Given the description of an element on the screen output the (x, y) to click on. 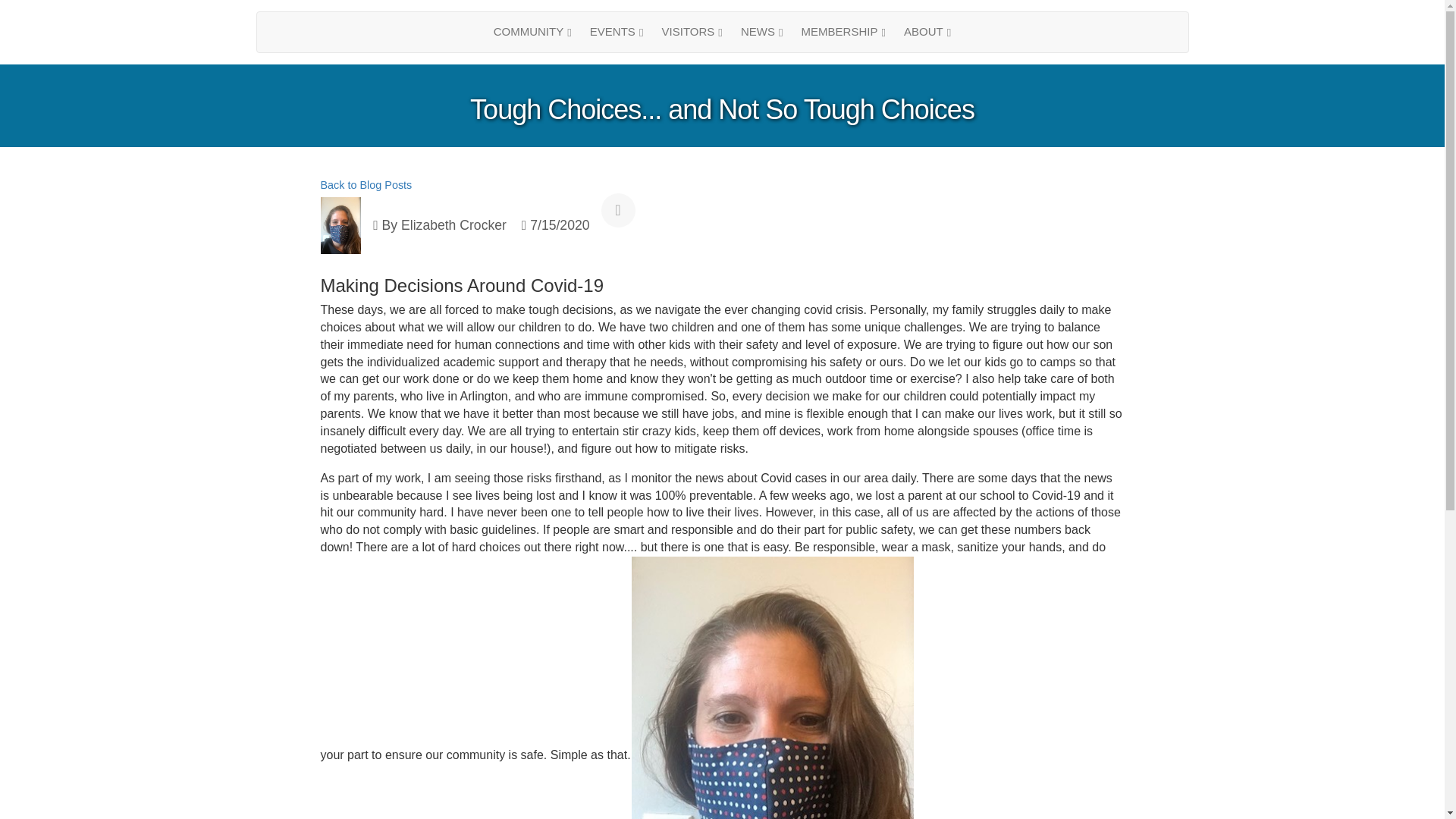
ABOUT (927, 32)
VISITORS (691, 32)
COMMUNITY (532, 32)
EVENTS (616, 32)
Back to Blog Posts (366, 184)
NEWS (761, 32)
MEMBERSHIP (843, 32)
